Given the description of an element on the screen output the (x, y) to click on. 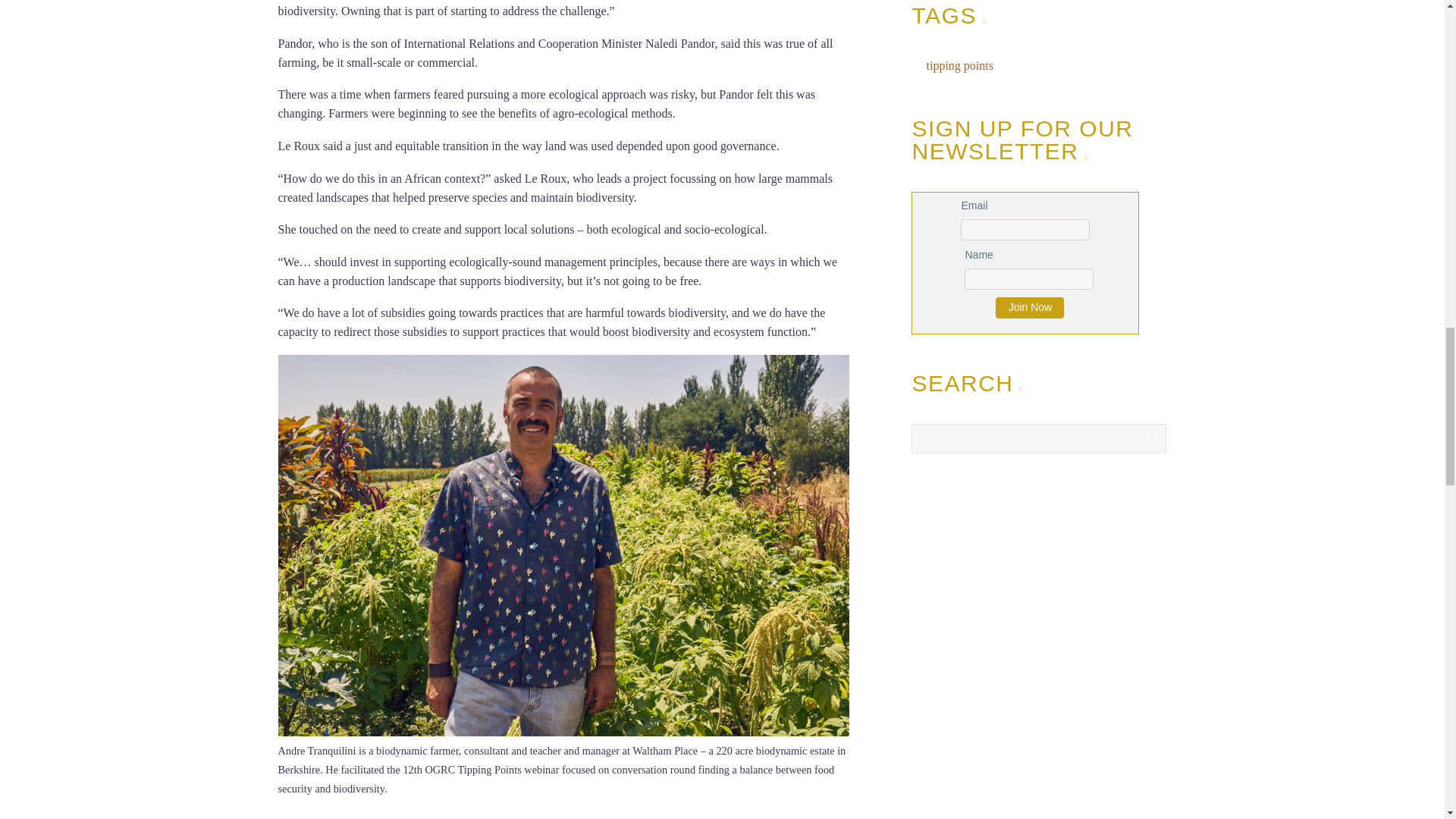
Join Now (1029, 307)
tipping points (955, 66)
SEARCH (1150, 438)
